Given the description of an element on the screen output the (x, y) to click on. 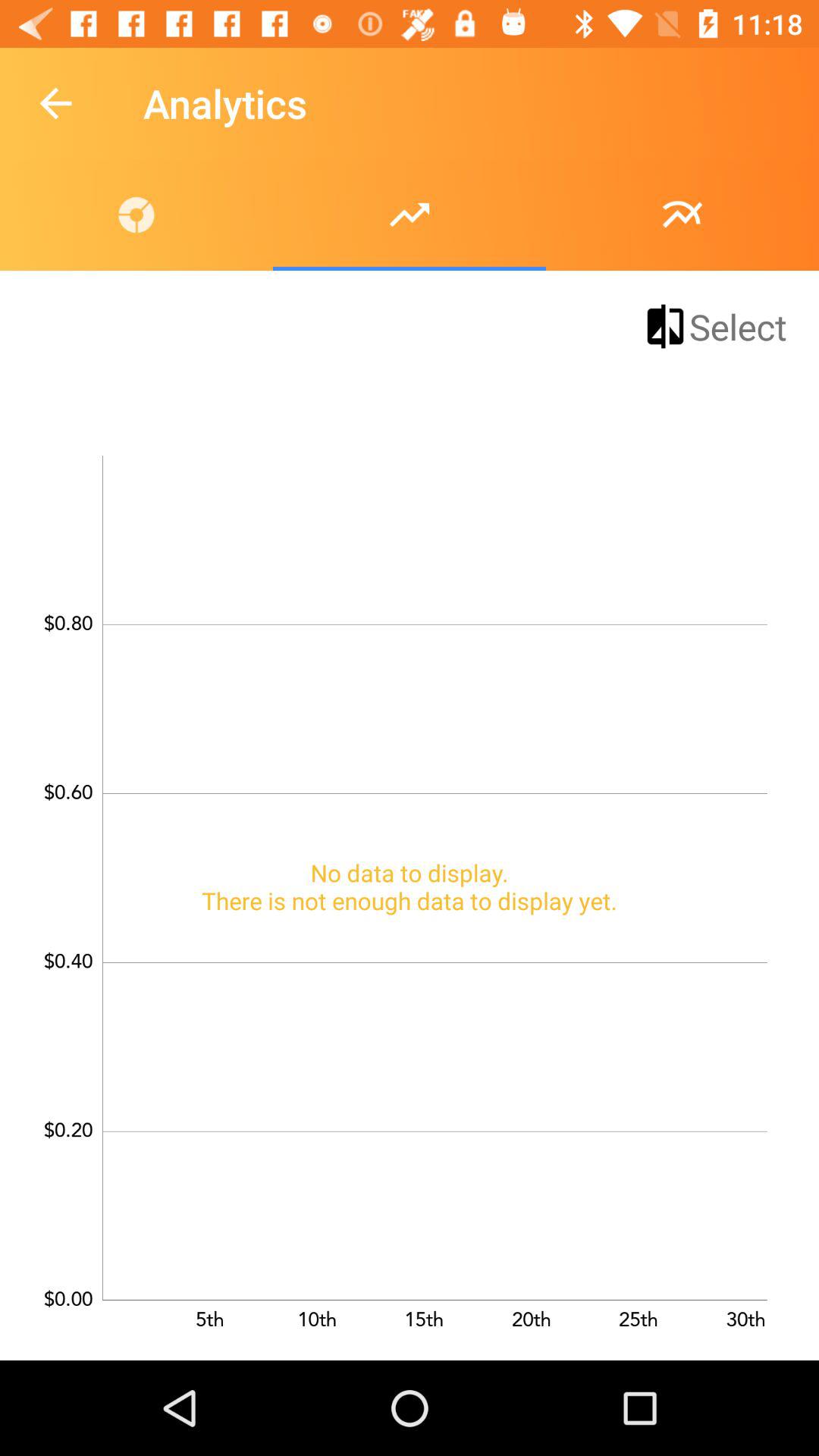
swipe to select icon (714, 326)
